Given the description of an element on the screen output the (x, y) to click on. 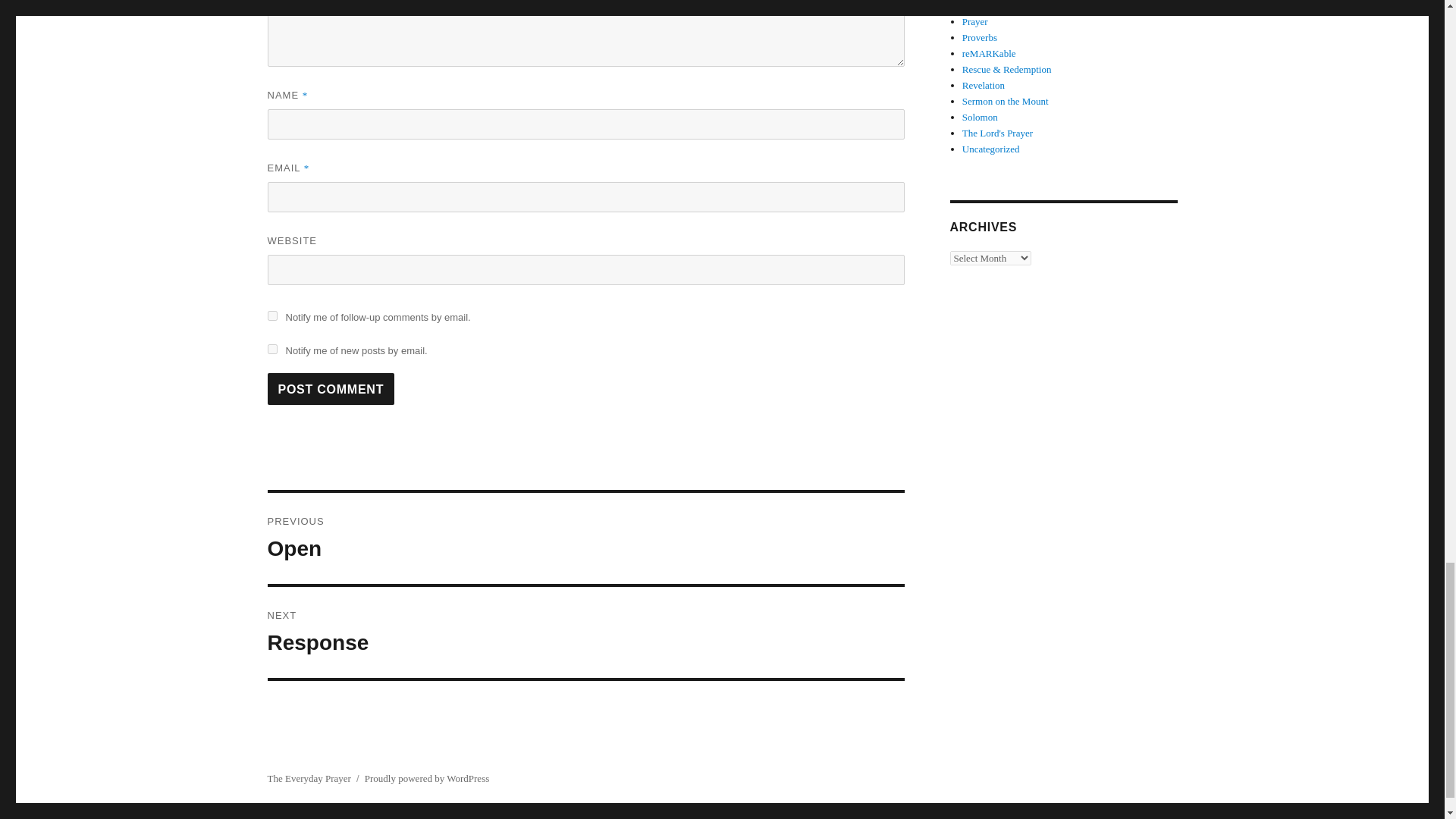
Post Comment (330, 388)
Post Comment (330, 388)
subscribe (271, 316)
subscribe (585, 632)
